Given the description of an element on the screen output the (x, y) to click on. 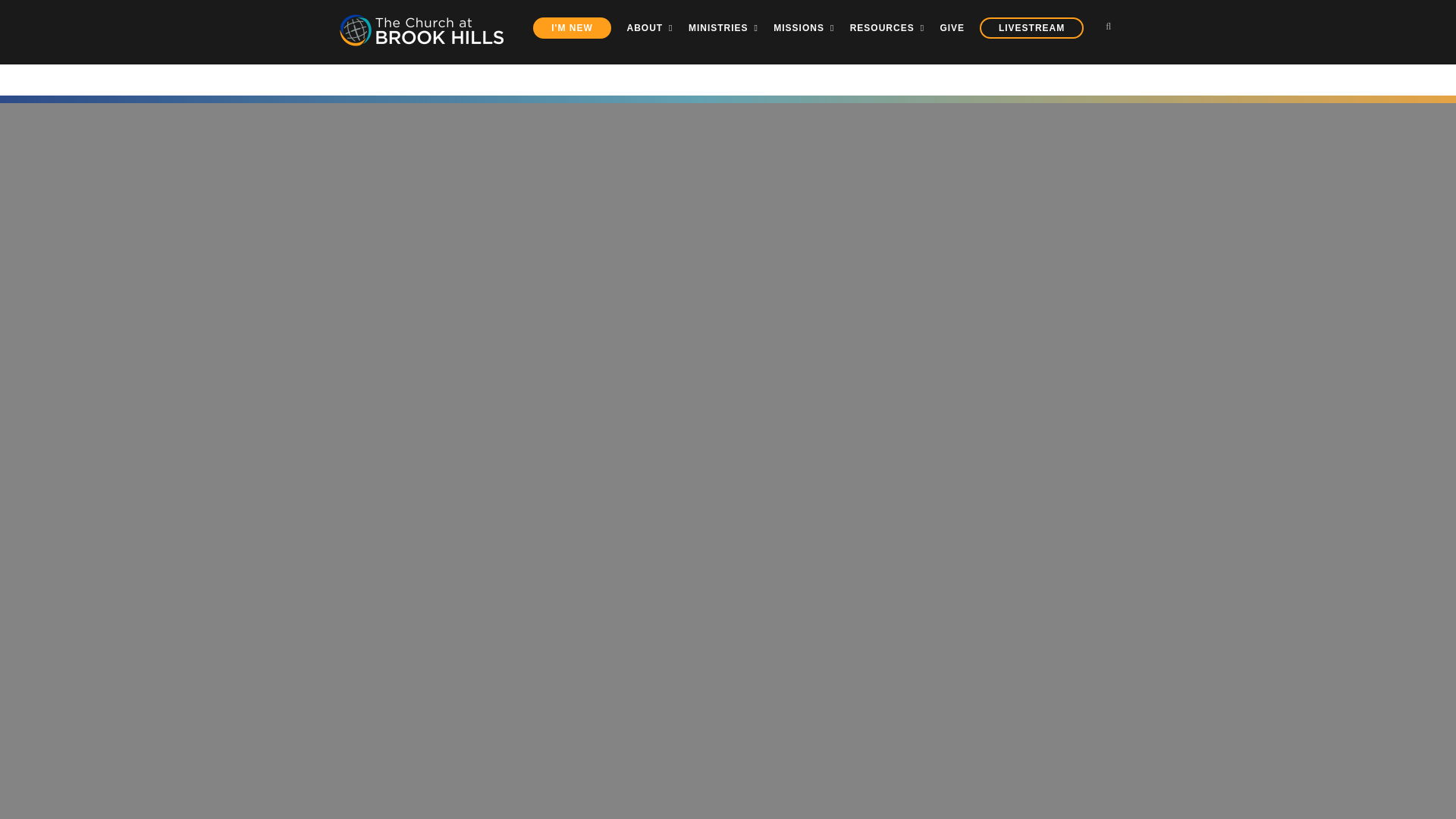
ABOUT (649, 27)
MISSIONS (803, 27)
MINISTRIES (723, 27)
I'M NEW (571, 27)
RESOURCES (887, 27)
